Given the description of an element on the screen output the (x, y) to click on. 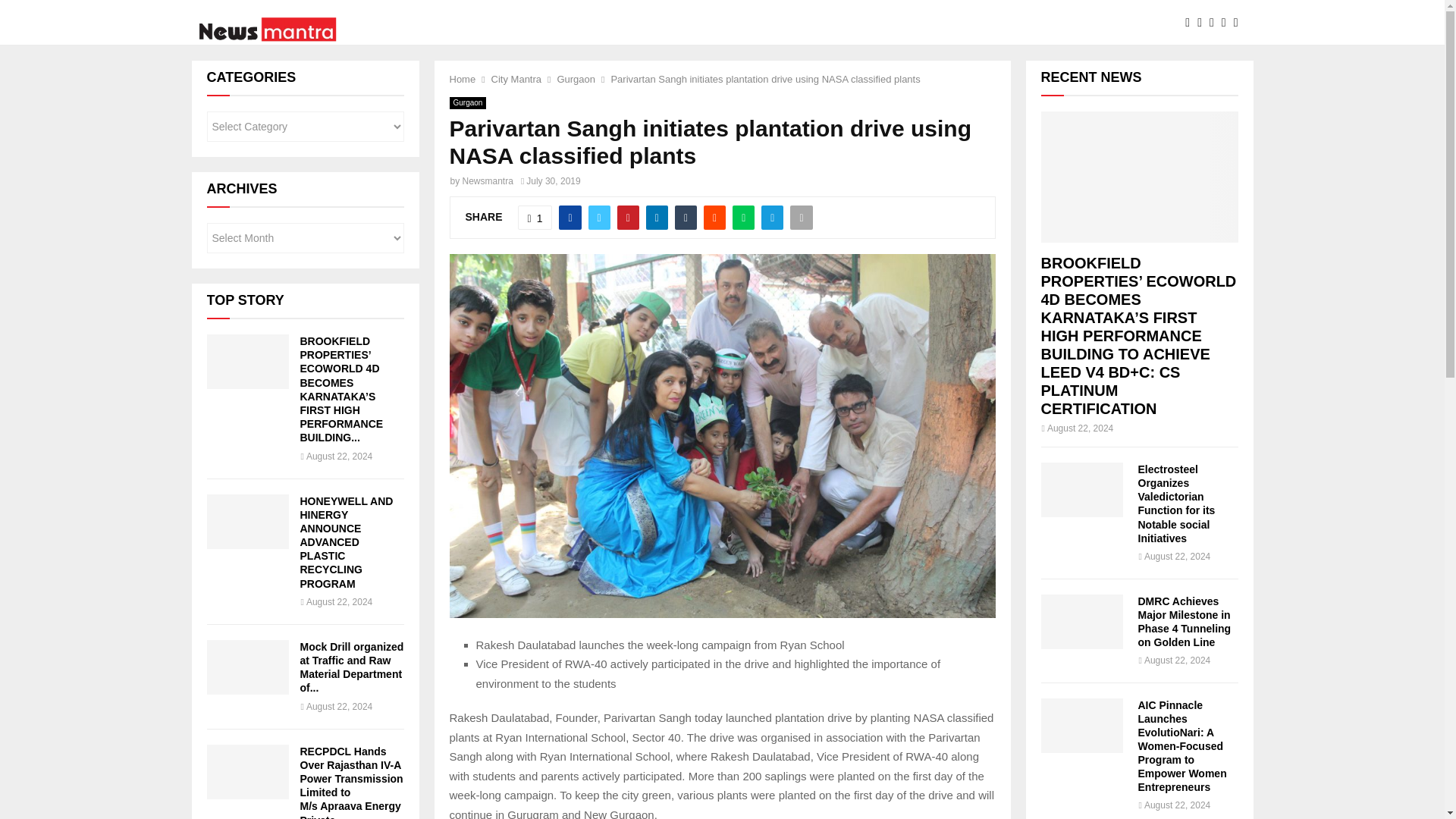
PSU MANTRA (471, 22)
HOME (395, 22)
City Mantra (516, 79)
Like (535, 217)
MANTRA VIEW (801, 22)
INFRA MANTRA (694, 22)
DIGITAL MAGAZINE (913, 22)
1 (535, 217)
Newsmantra (488, 181)
